Given the description of an element on the screen output the (x, y) to click on. 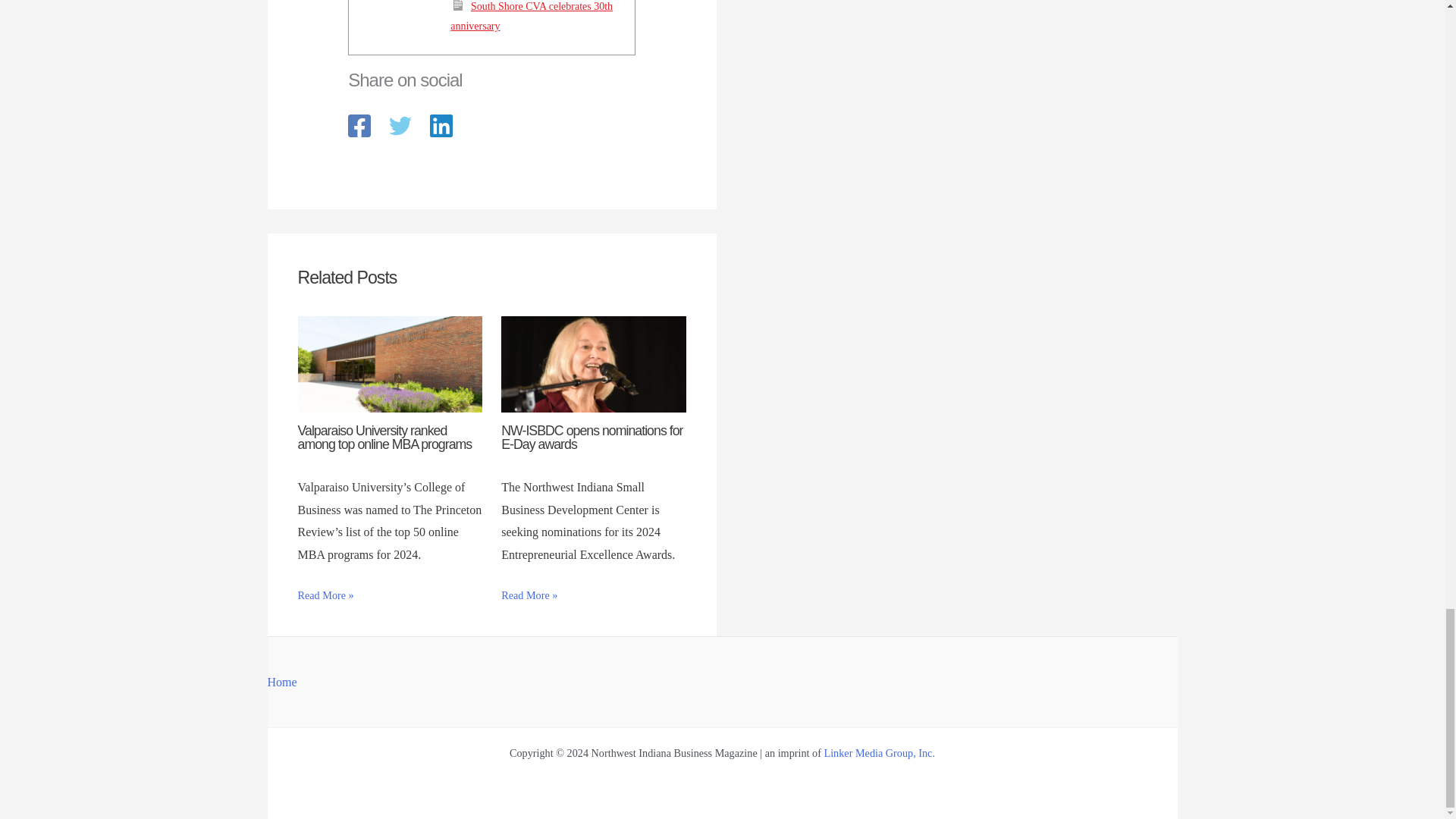
South Shore CVA celebrates 30th anniversary (530, 15)
